Given the description of an element on the screen output the (x, y) to click on. 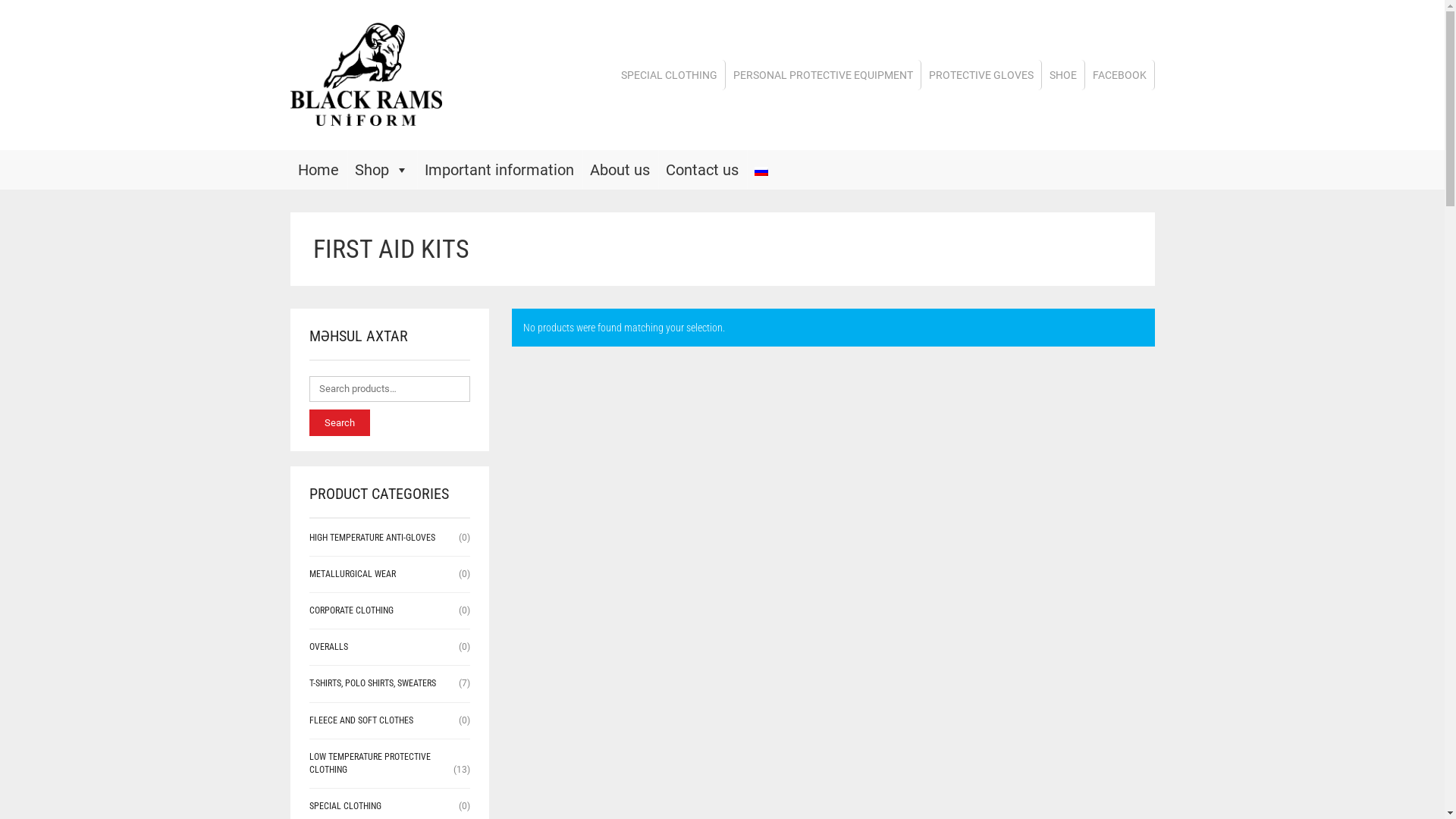
LOW TEMPERATURE PROTECTIVE CLOTHING Element type: text (369, 763)
HIGH TEMPERATURE ANTI-GLOVES Element type: text (372, 537)
FLEECE AND SOFT CLOTHES Element type: text (361, 719)
Home Element type: text (317, 169)
SPECIAL CLOTHING Element type: text (345, 805)
PERSONAL PROTECTIVE EQUIPMENT Element type: text (822, 74)
Contact us Element type: text (702, 169)
Search Element type: text (339, 422)
FACEBOOK Element type: text (1119, 74)
Shop Element type: text (381, 169)
PROTECTIVE GLOVES Element type: text (980, 74)
METALLURGICAL WEAR Element type: text (352, 573)
About us Element type: text (619, 169)
SPECIAL CLOTHING Element type: text (668, 74)
T-SHIRTS, POLO SHIRTS, SWEATERS Element type: text (372, 682)
Important information Element type: text (499, 169)
OVERALLS Element type: text (328, 646)
SHOE Element type: text (1063, 74)
CORPORATE CLOTHING Element type: text (351, 610)
